Given the description of an element on the screen output the (x, y) to click on. 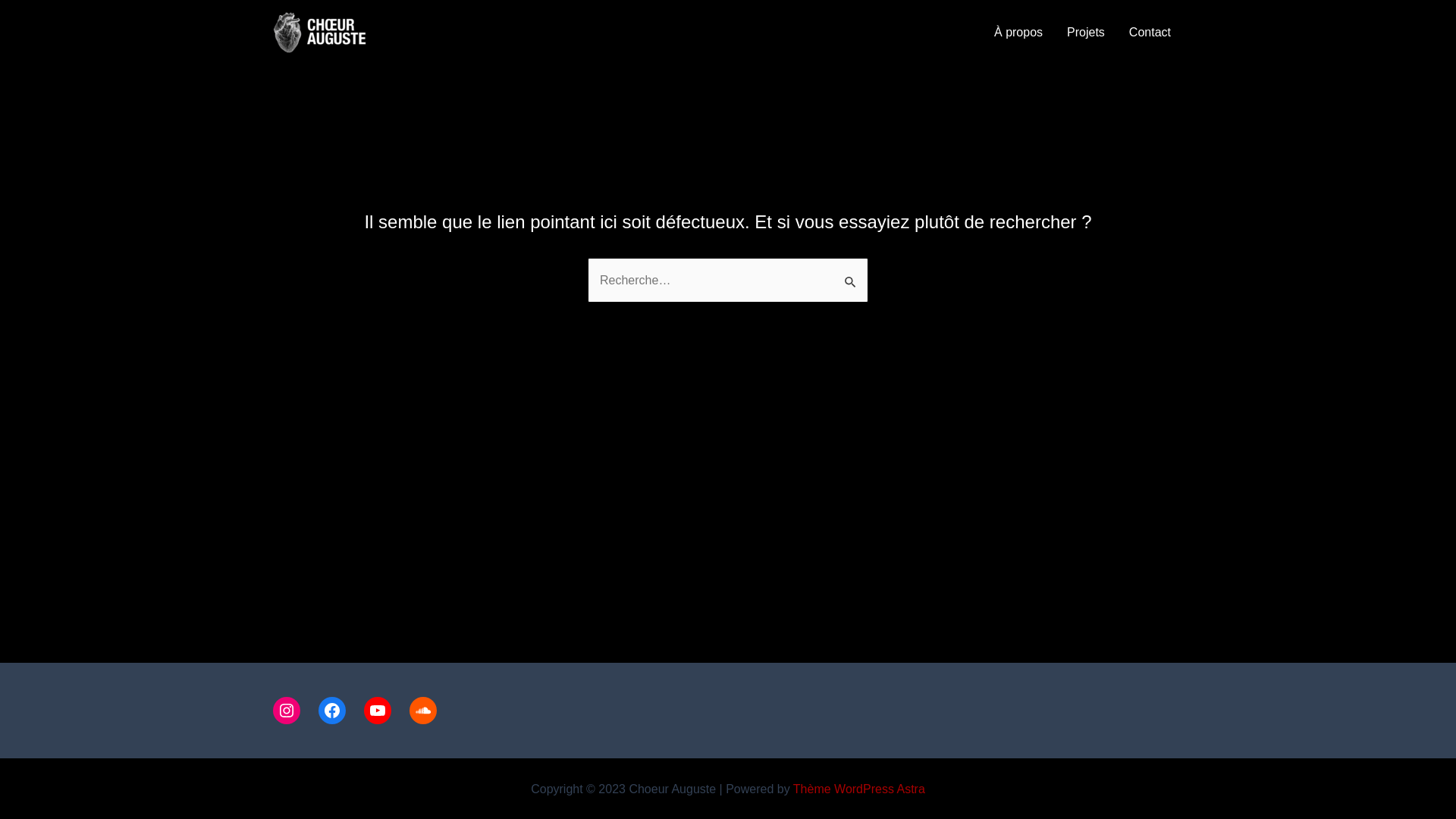
Contact Element type: text (1150, 32)
YouTube Element type: text (377, 710)
Soundcloud Element type: text (422, 710)
Instagram Element type: text (286, 710)
Projets Element type: text (1085, 32)
Facebook Element type: text (331, 710)
Rechercher Element type: text (851, 273)
